Given the description of an element on the screen output the (x, y) to click on. 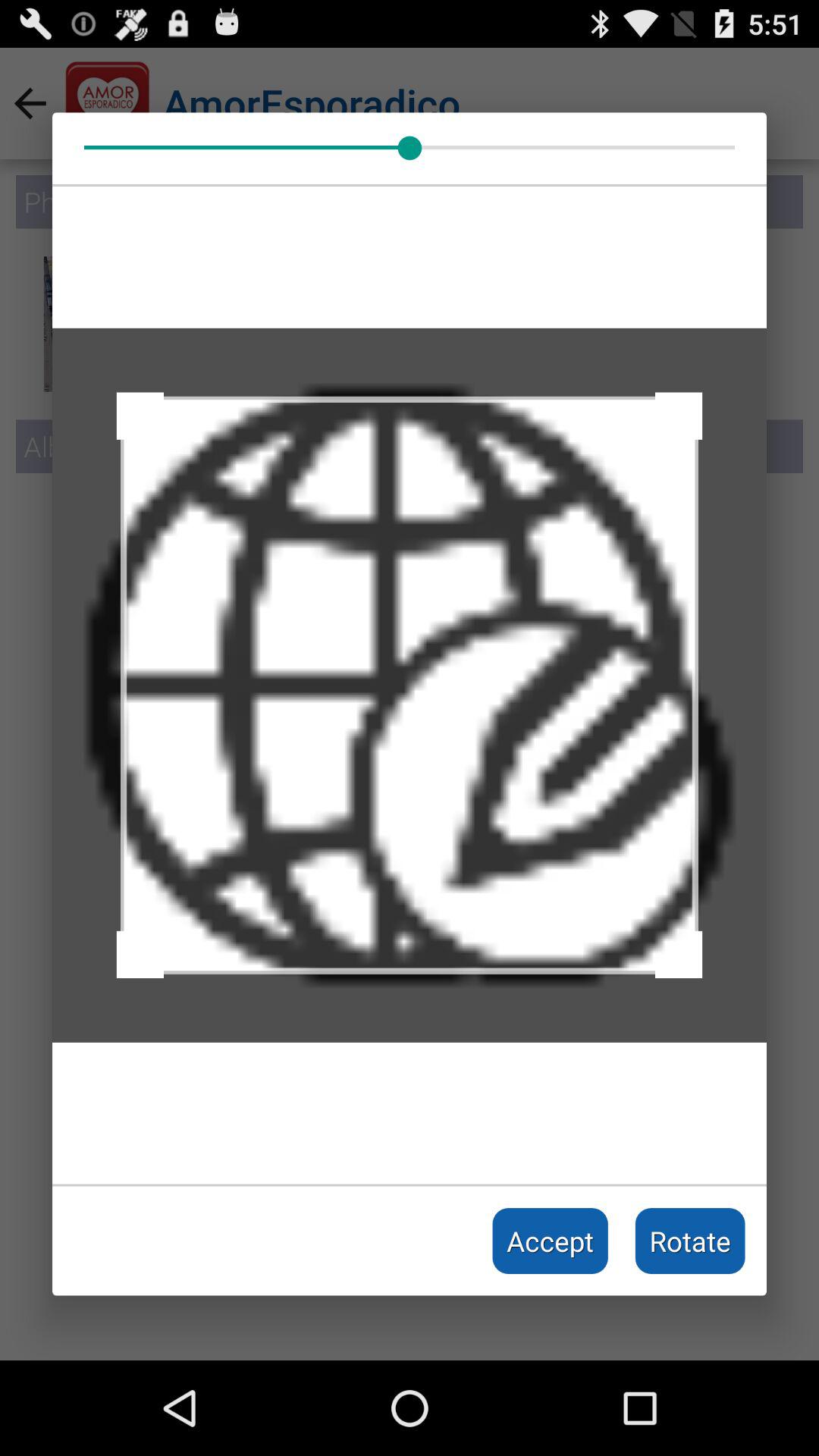
open the icon to the left of rotate icon (549, 1240)
